Given the description of an element on the screen output the (x, y) to click on. 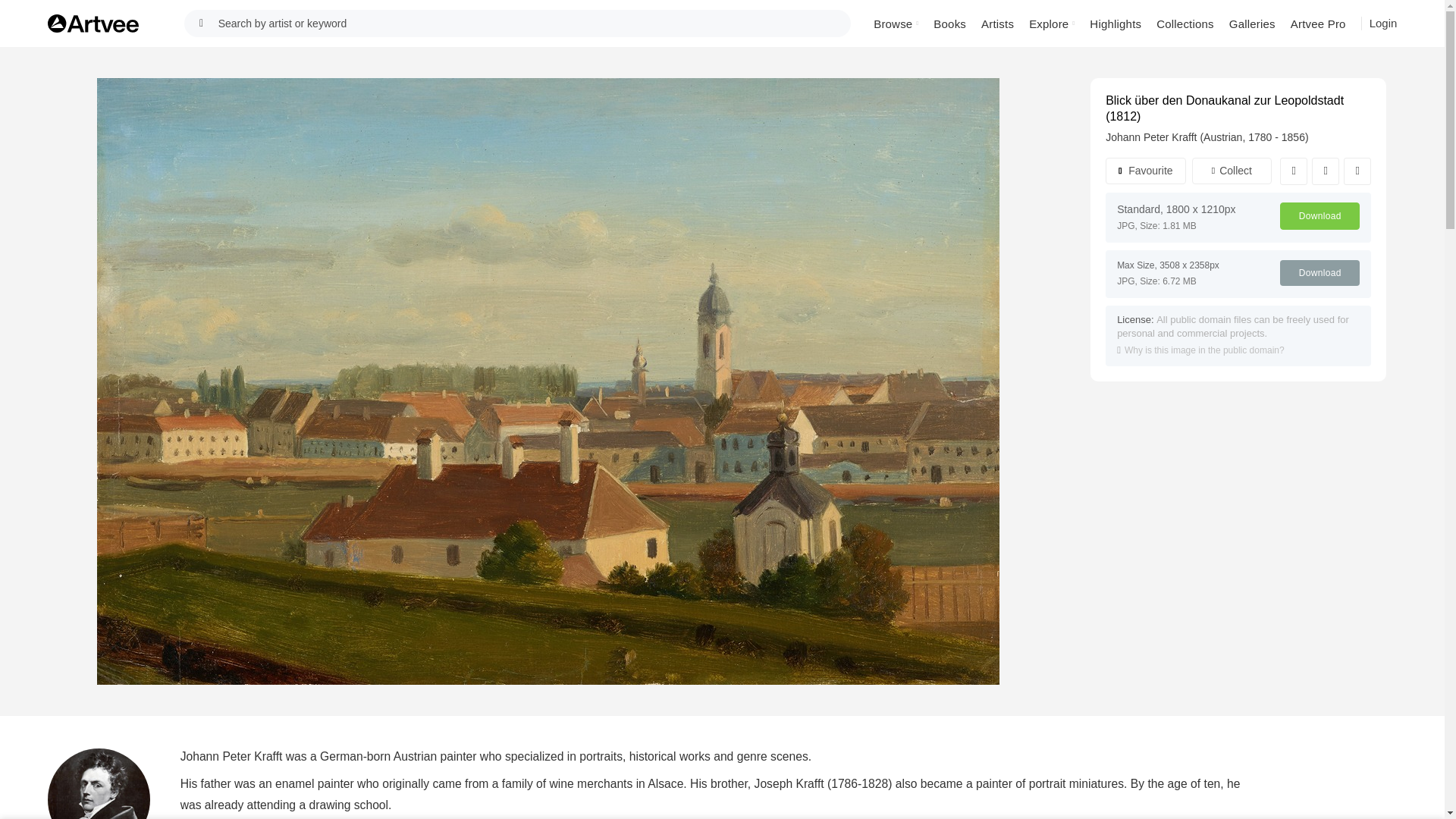
Artists (998, 23)
Explore (1051, 23)
Download (1319, 272)
Collections (1184, 23)
Login (1383, 22)
Download (1319, 216)
Twitter (1325, 171)
Pinterest (1357, 171)
Johann Peter Krafft (98, 783)
Books (950, 23)
